Given the description of an element on the screen output the (x, y) to click on. 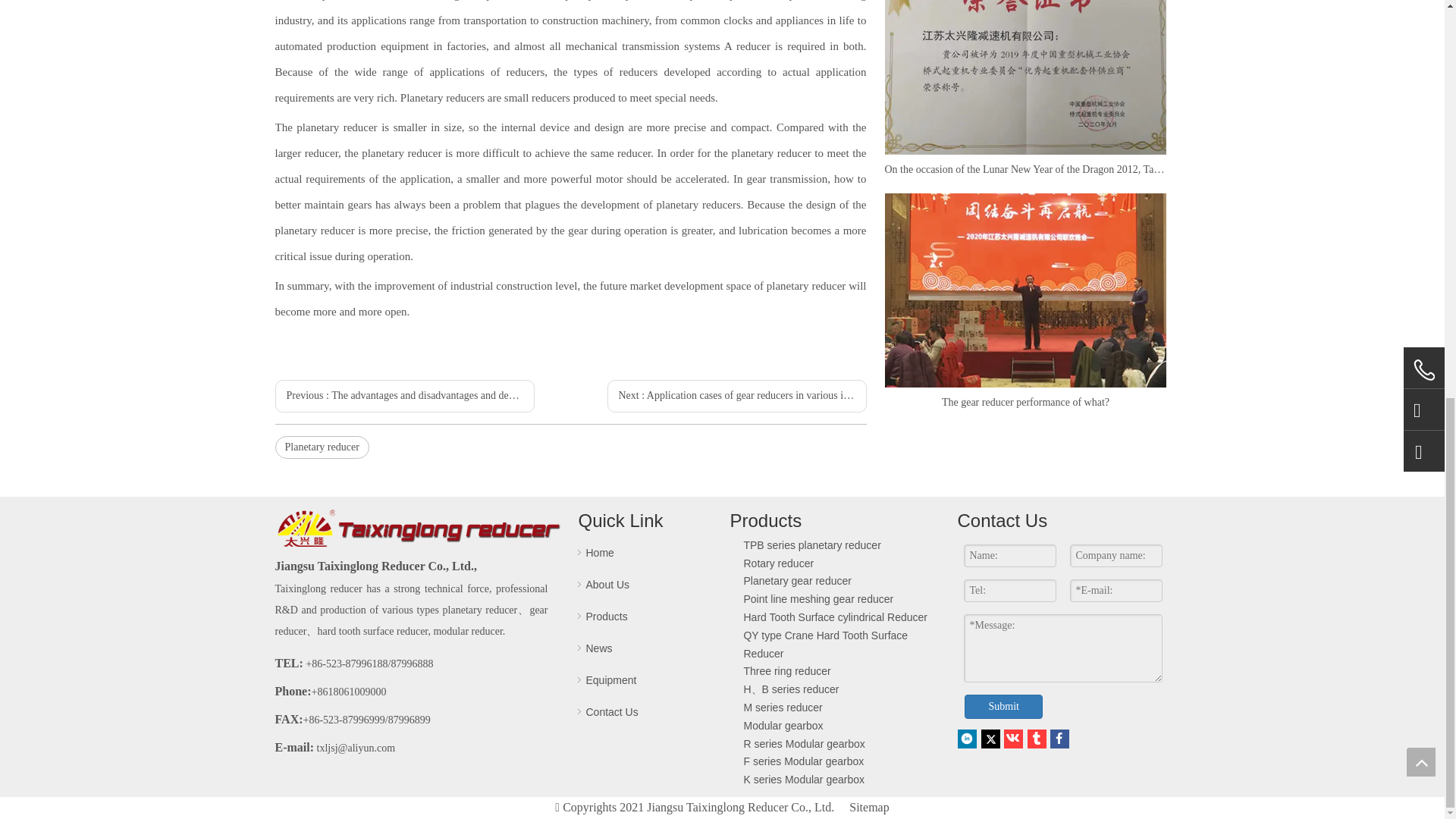
Home (598, 552)
Planetary reducer (321, 446)
logo-d (418, 529)
Planetary reducer (321, 446)
Products (606, 616)
The gear reducer performance of what? (1024, 290)
News (598, 648)
About Us (606, 584)
Home (598, 552)
The gear reducer performance of what? (1024, 402)
